Given the description of an element on the screen output the (x, y) to click on. 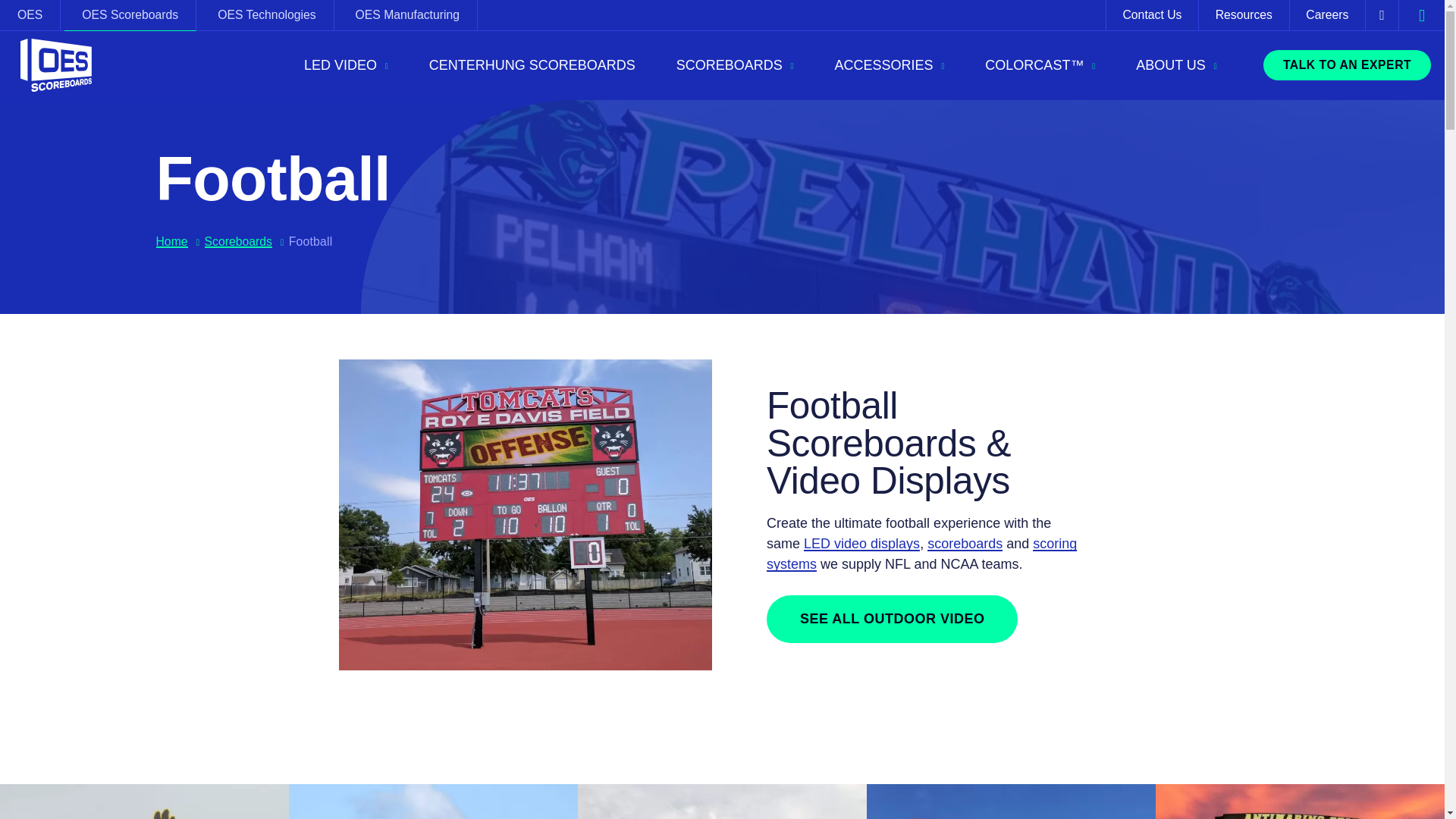
Skip to content (13, 13)
LED VIDEO (346, 65)
Resources (1244, 15)
Outdoor LED Video (892, 618)
Careers (1327, 15)
SCOREBOARDS (734, 65)
OES (29, 15)
ACCESSORIES (889, 65)
OES Manufacturing (407, 15)
CENTERHUNG SCOREBOARDS (532, 65)
OES Technologies (266, 15)
Contact Us (1152, 15)
Home (56, 65)
Cart (1382, 15)
OES Scoreboards (129, 15)
